Given the description of an element on the screen output the (x, y) to click on. 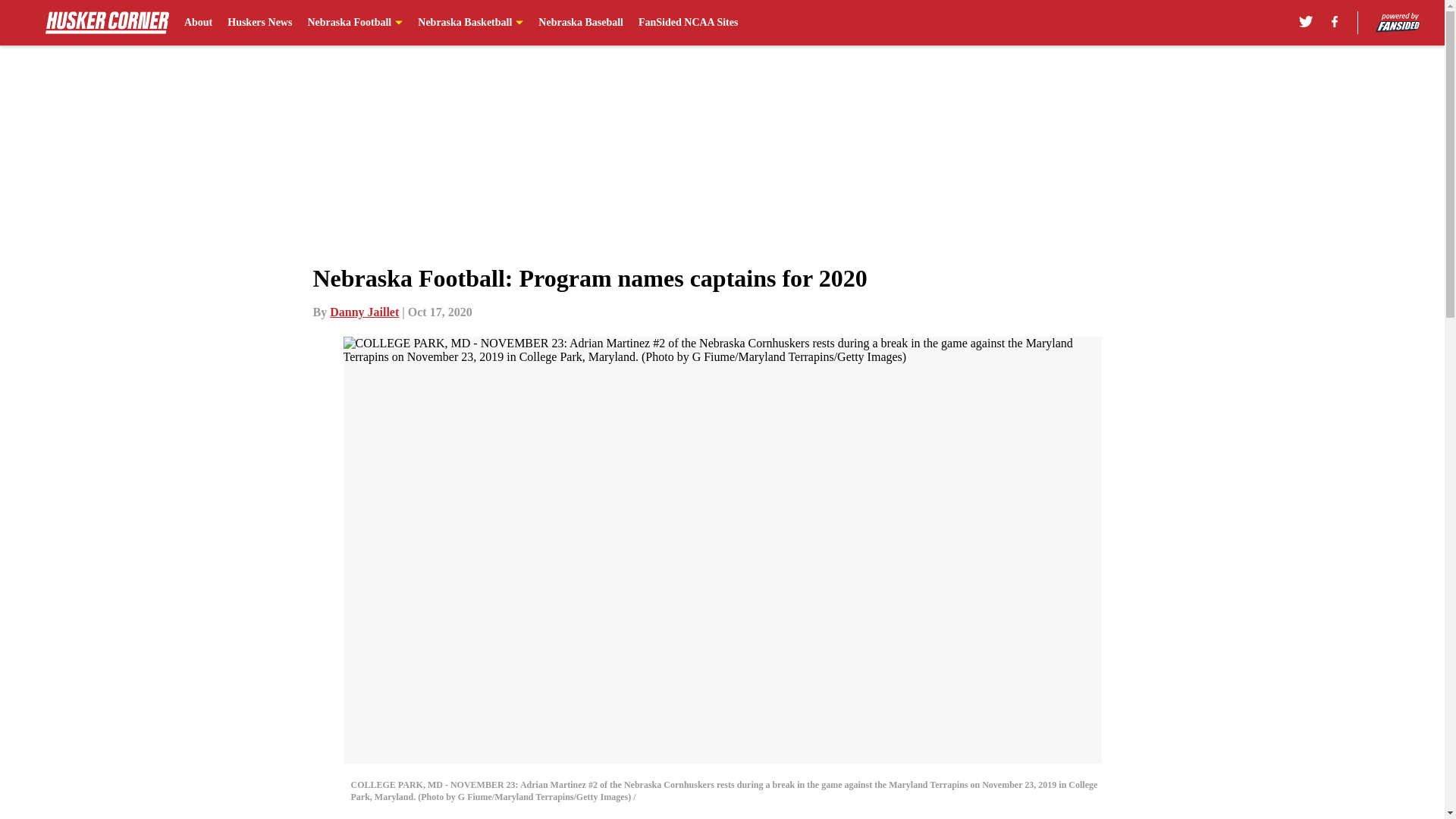
FanSided NCAA Sites (688, 22)
Huskers News (259, 22)
Danny Jaillet (364, 311)
Nebraska Baseball (580, 22)
About (198, 22)
